Given the description of an element on the screen output the (x, y) to click on. 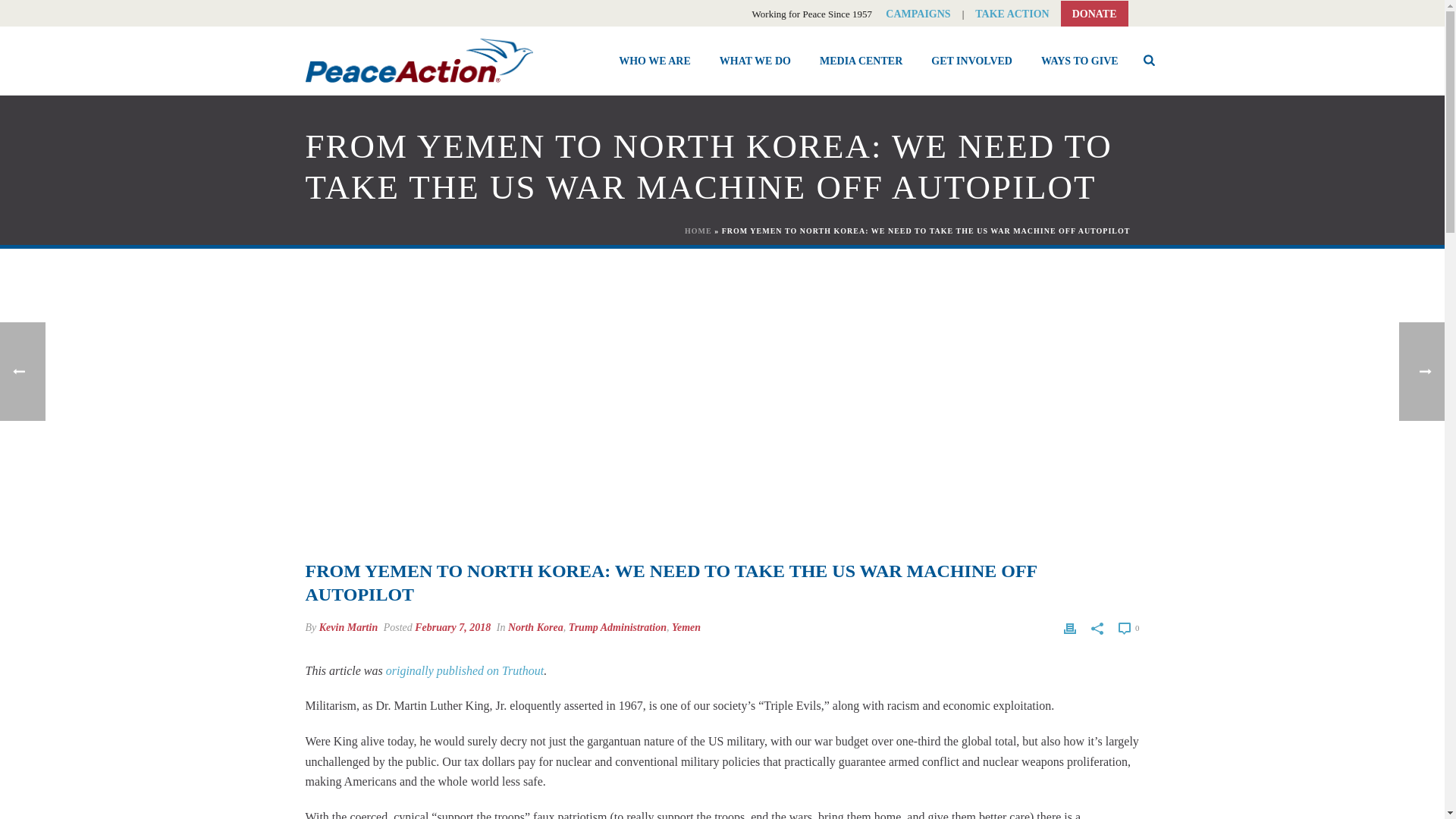
WHO WE ARE (654, 59)
Posts by Kevin Martin (347, 627)
GET INVOLVED (971, 59)
Working for Peace Since 1957 (418, 60)
WAYS TO GIVE (1079, 59)
MEDIA CENTER (860, 59)
MEDIA CENTER (860, 59)
WHAT WE DO (754, 59)
DONATE (1094, 13)
